Given the description of an element on the screen output the (x, y) to click on. 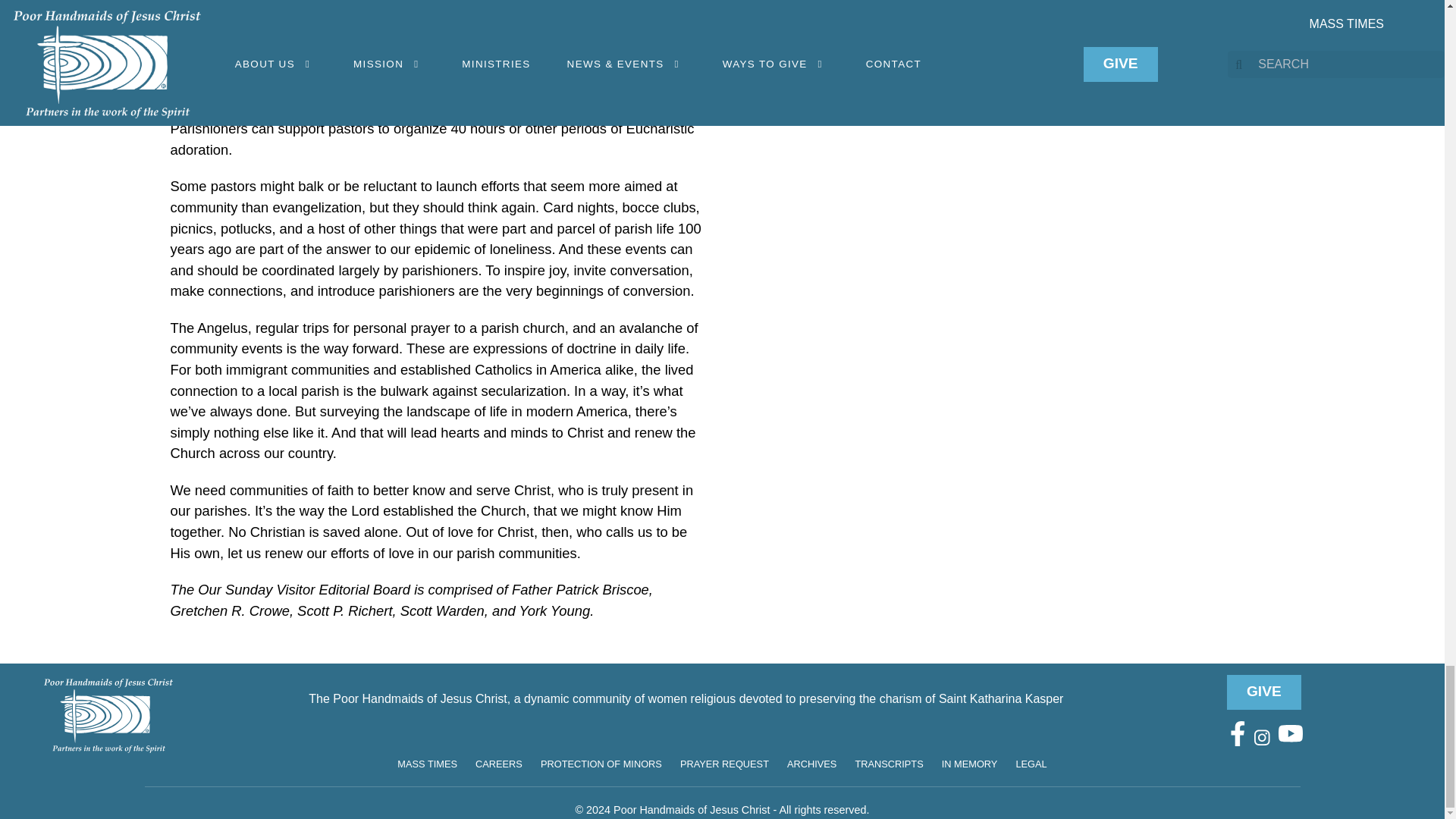
MASS TIMES (427, 763)
PRAYER REQUEST (723, 763)
CAREERS (499, 763)
Give (1264, 692)
PROTECTION OF MINORS (601, 763)
